Given the description of an element on the screen output the (x, y) to click on. 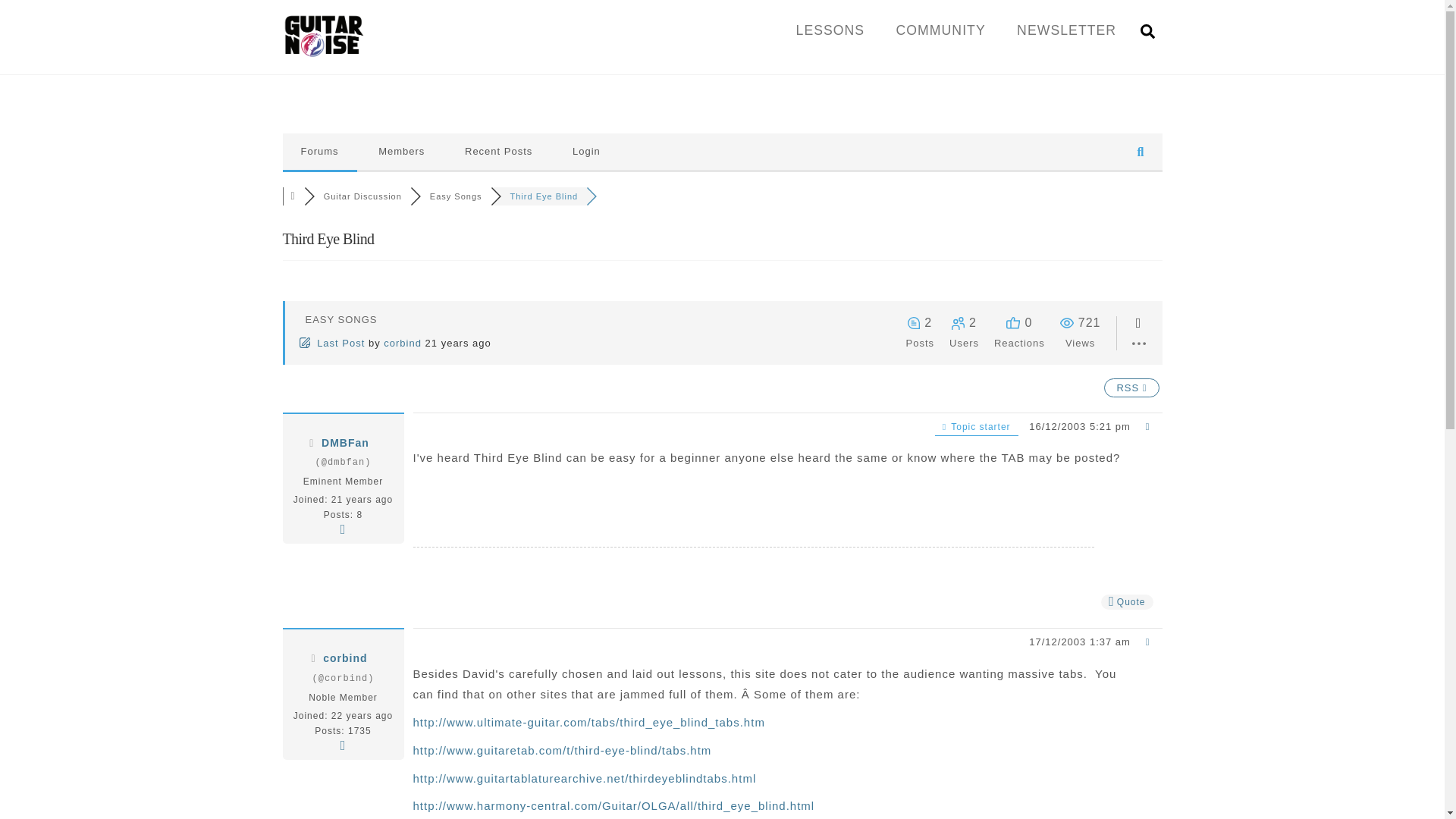
Recent Posts (498, 151)
Members (400, 151)
Easy Songs (455, 195)
COMMUNITY (940, 31)
RSS (1130, 387)
Login (586, 151)
Search (1146, 30)
Easy Songs (455, 195)
Forums (319, 151)
DMBFan (345, 442)
